Given the description of an element on the screen output the (x, y) to click on. 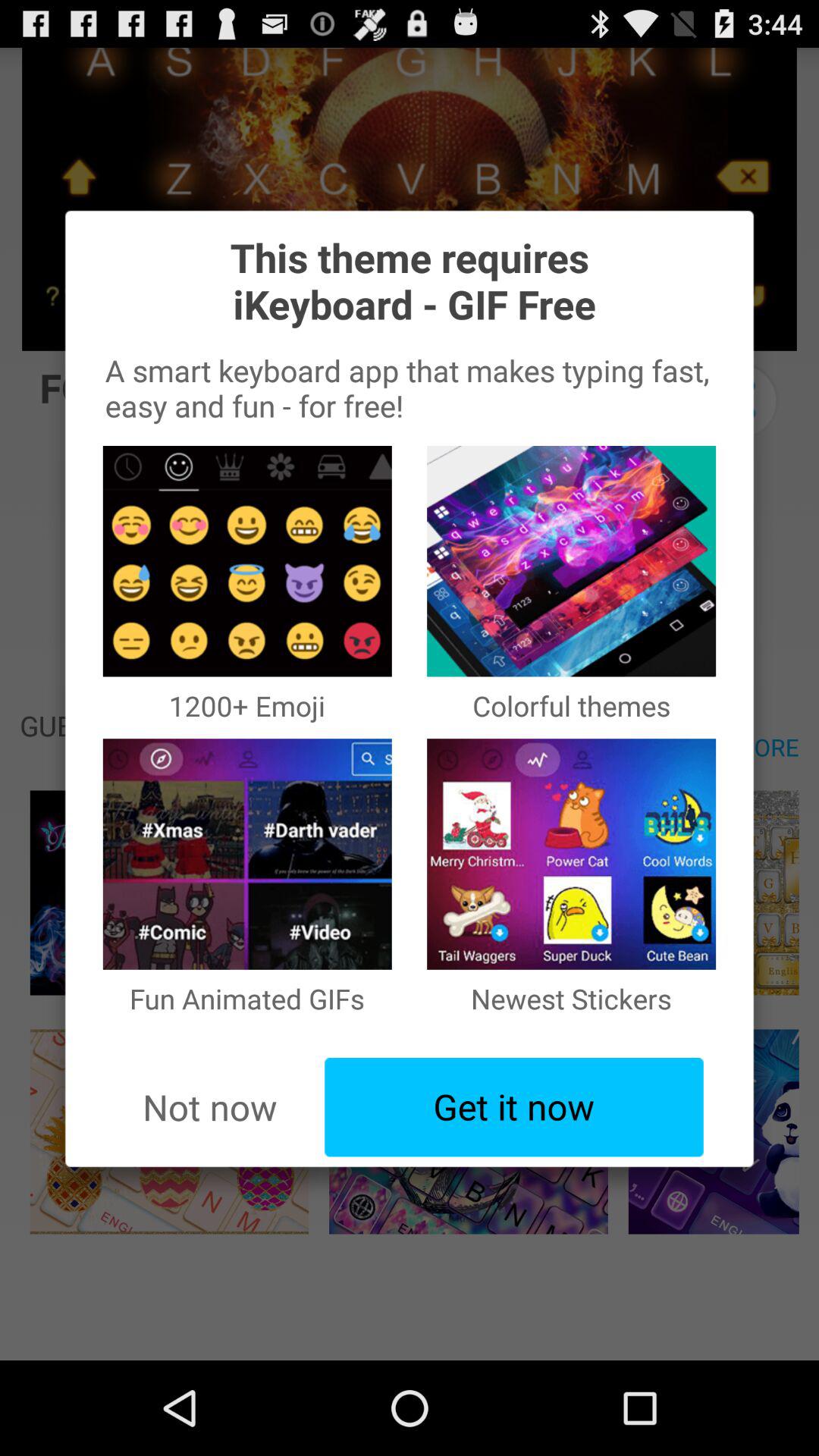
press the item to the right of the not now (513, 1106)
